Given the description of an element on the screen output the (x, y) to click on. 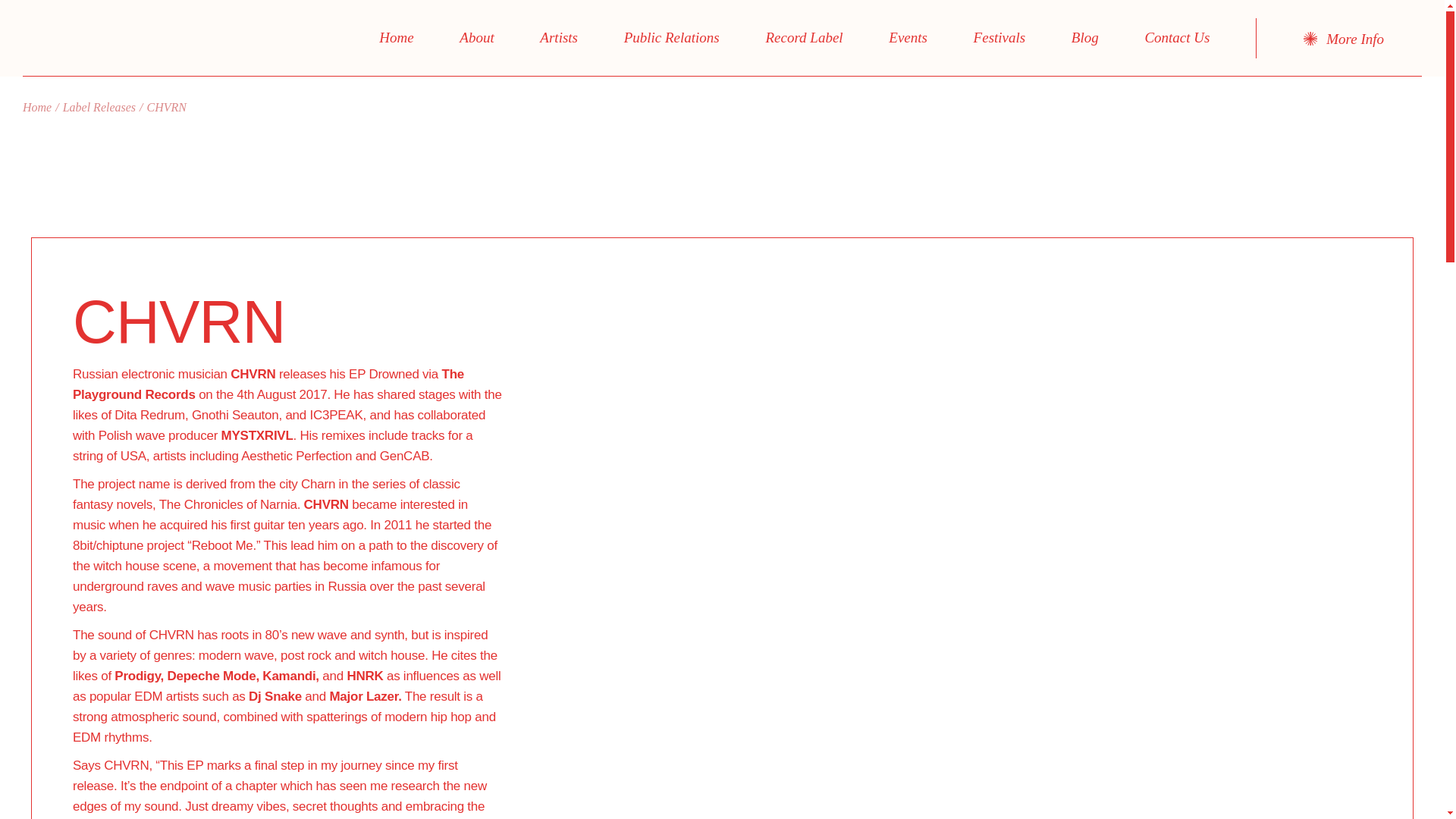
Festivals (998, 38)
Public Relations (671, 38)
Record Label (804, 38)
Contact Us (1176, 38)
More Info (1343, 38)
